Given the description of an element on the screen output the (x, y) to click on. 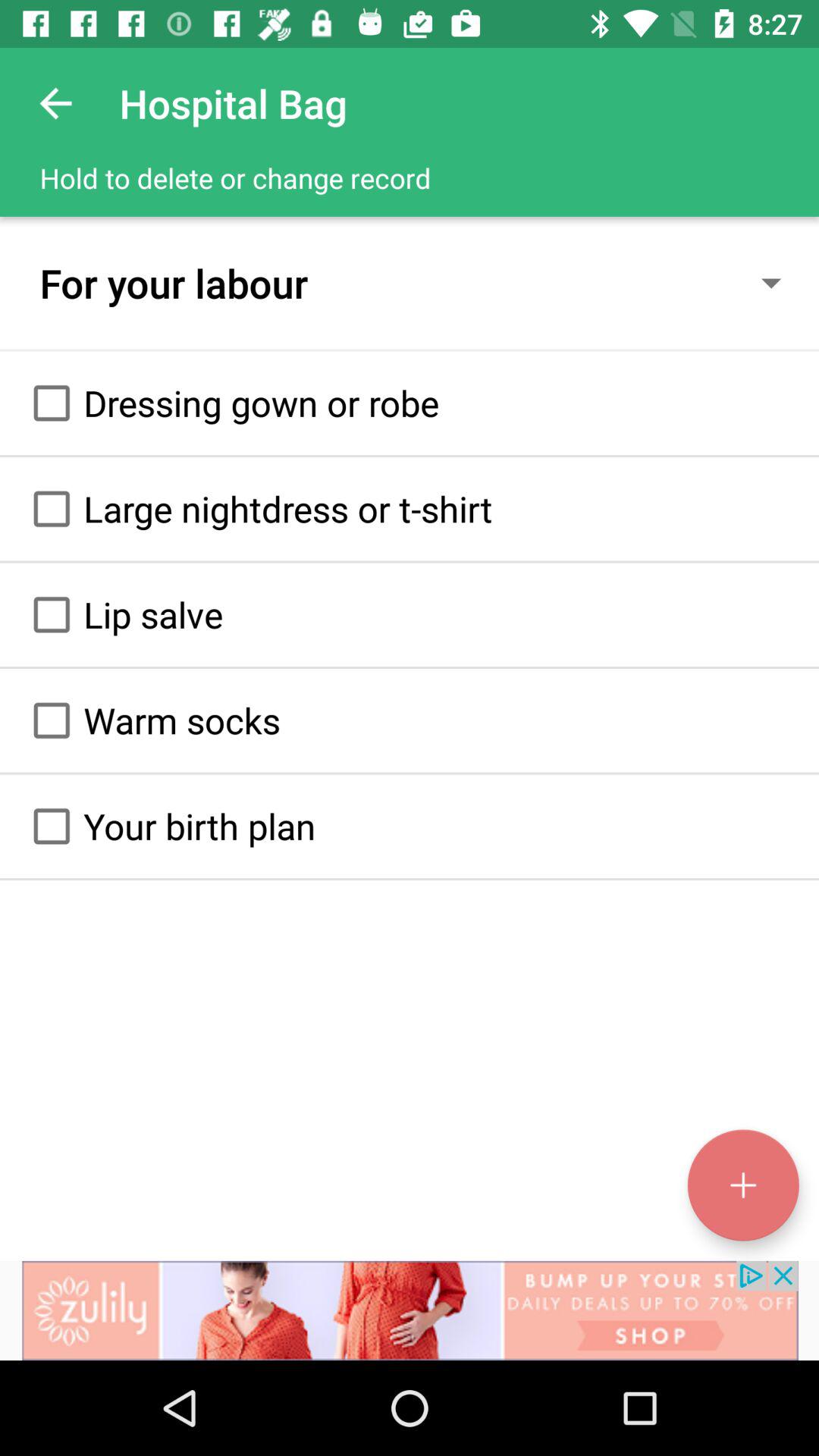
click to select (51, 826)
